Given the description of an element on the screen output the (x, y) to click on. 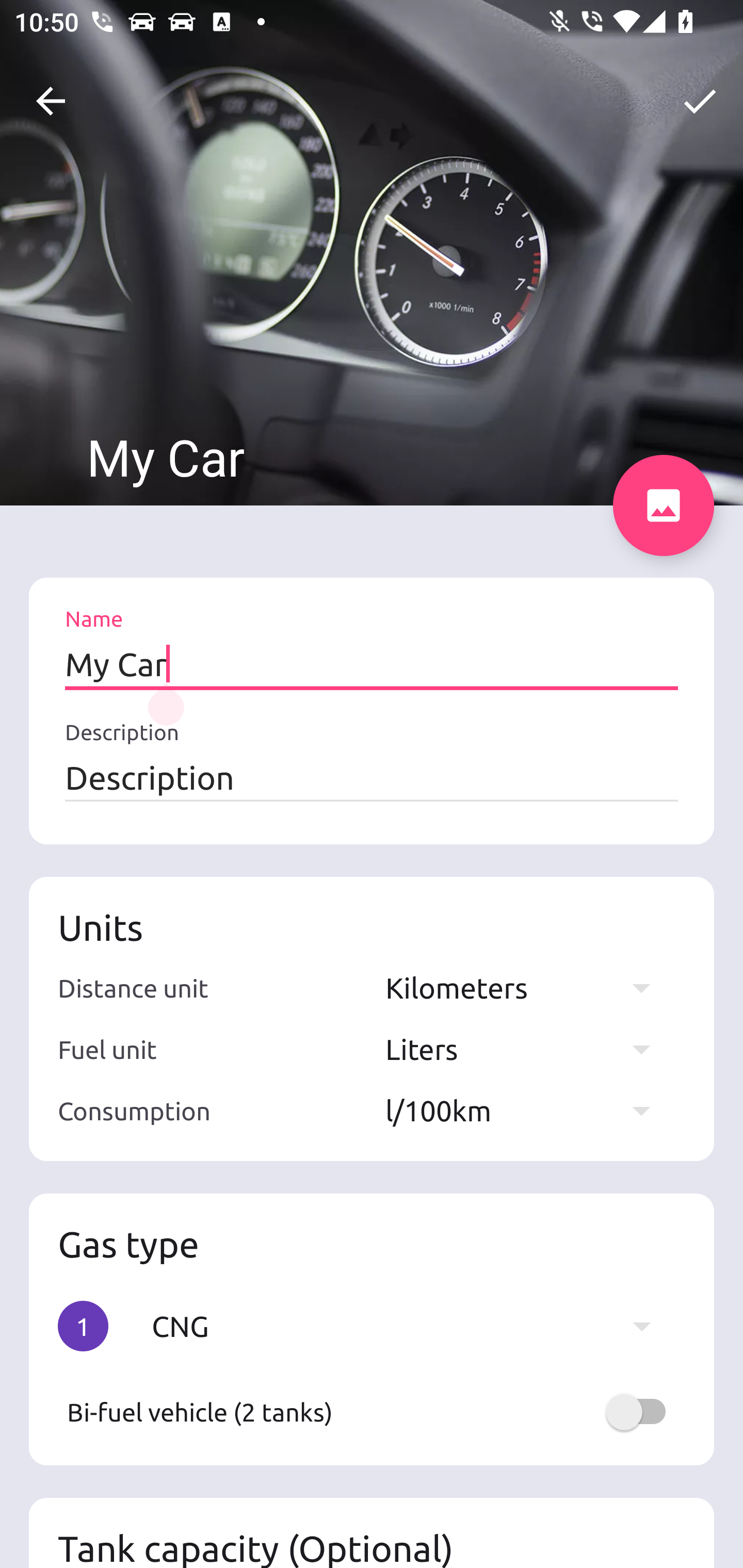
Navigate up (50, 101)
OK (699, 101)
My Car (371, 664)
Description (371, 777)
Kilometers (527, 987)
Liters (527, 1048)
l/100km (527, 1110)
CNG (411, 1325)
Bi-fuel vehicle (2 tanks) (371, 1411)
